Given the description of an element on the screen output the (x, y) to click on. 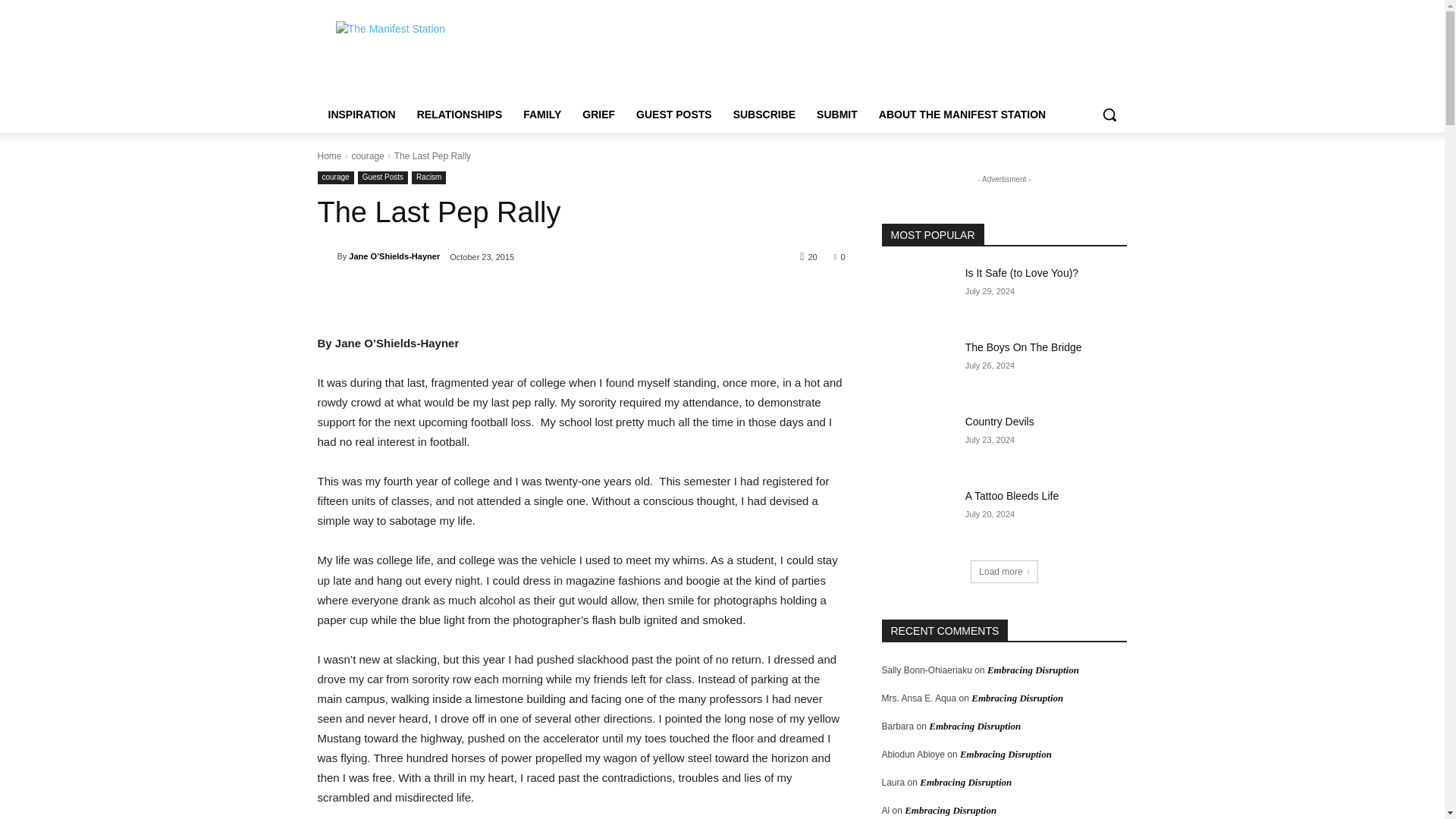
The Manifest Station - Finding Stillness in Motion (438, 55)
GRIEF (599, 114)
The Manifest Station - Finding Stillness in Motion (438, 55)
GUEST POSTS (674, 114)
ABOUT THE MANIFEST STATION (962, 114)
Home (328, 155)
SUBSCRIBE (764, 114)
RELATIONSHIPS (459, 114)
courage (335, 177)
INSPIRATION (361, 114)
